Given the description of an element on the screen output the (x, y) to click on. 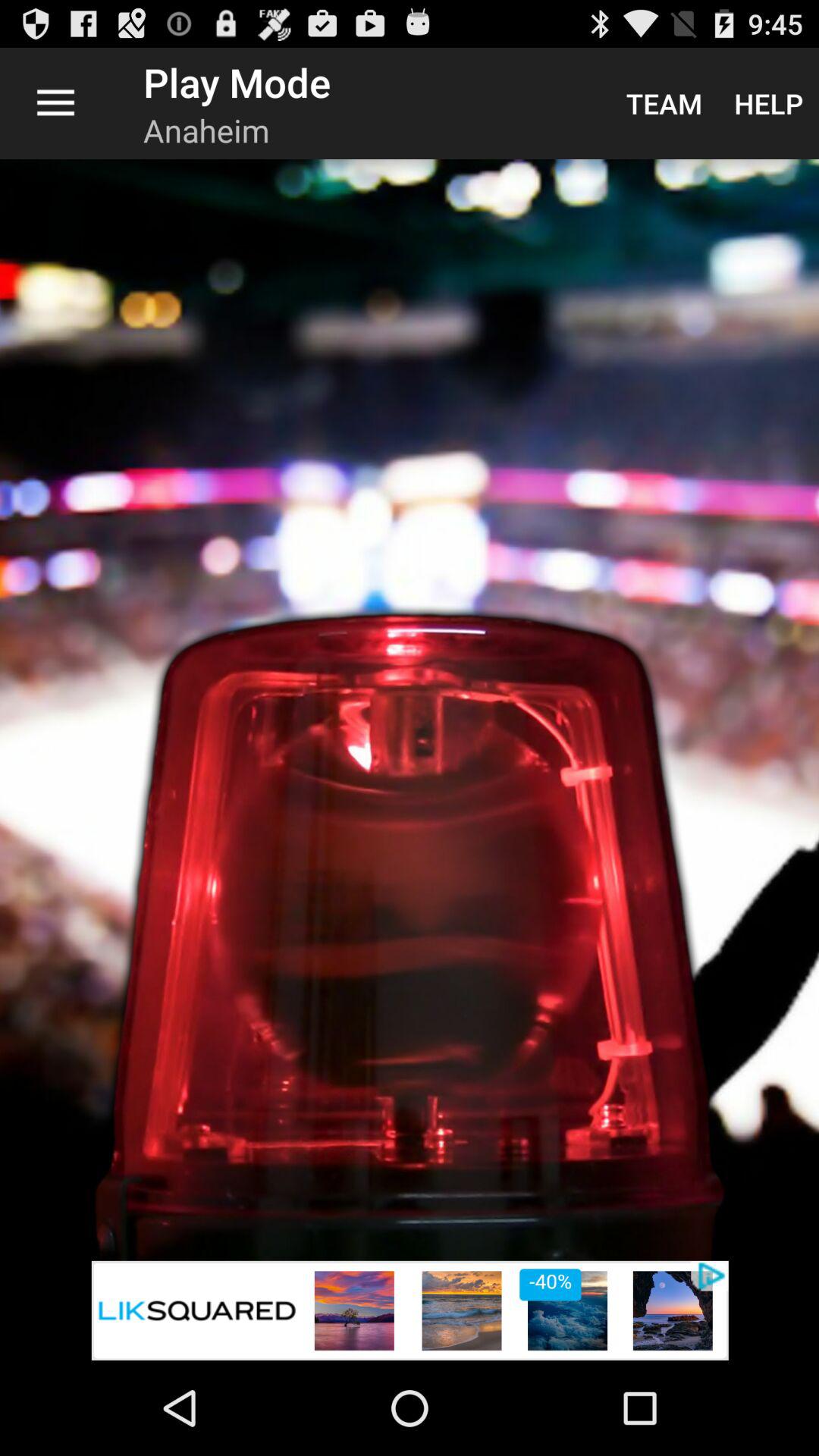
open item next to play mode app (55, 103)
